Given the description of an element on the screen output the (x, y) to click on. 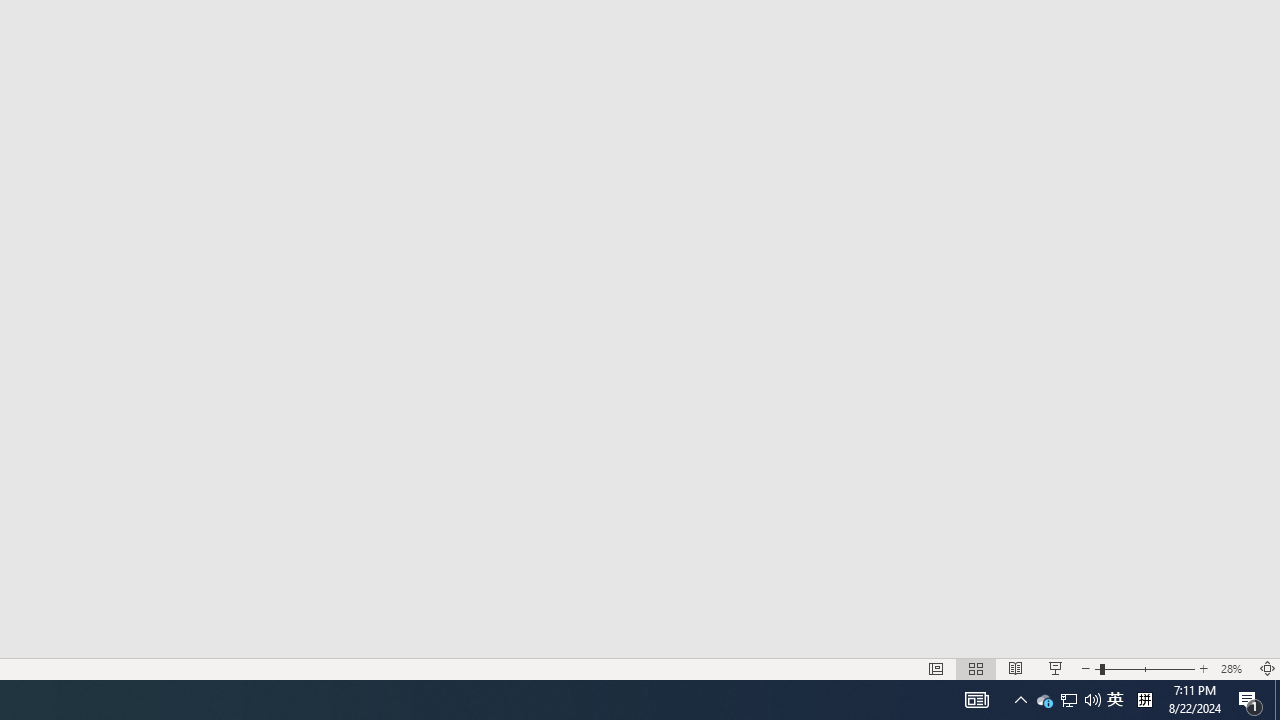
Zoom 28% (1234, 668)
